Given the description of an element on the screen output the (x, y) to click on. 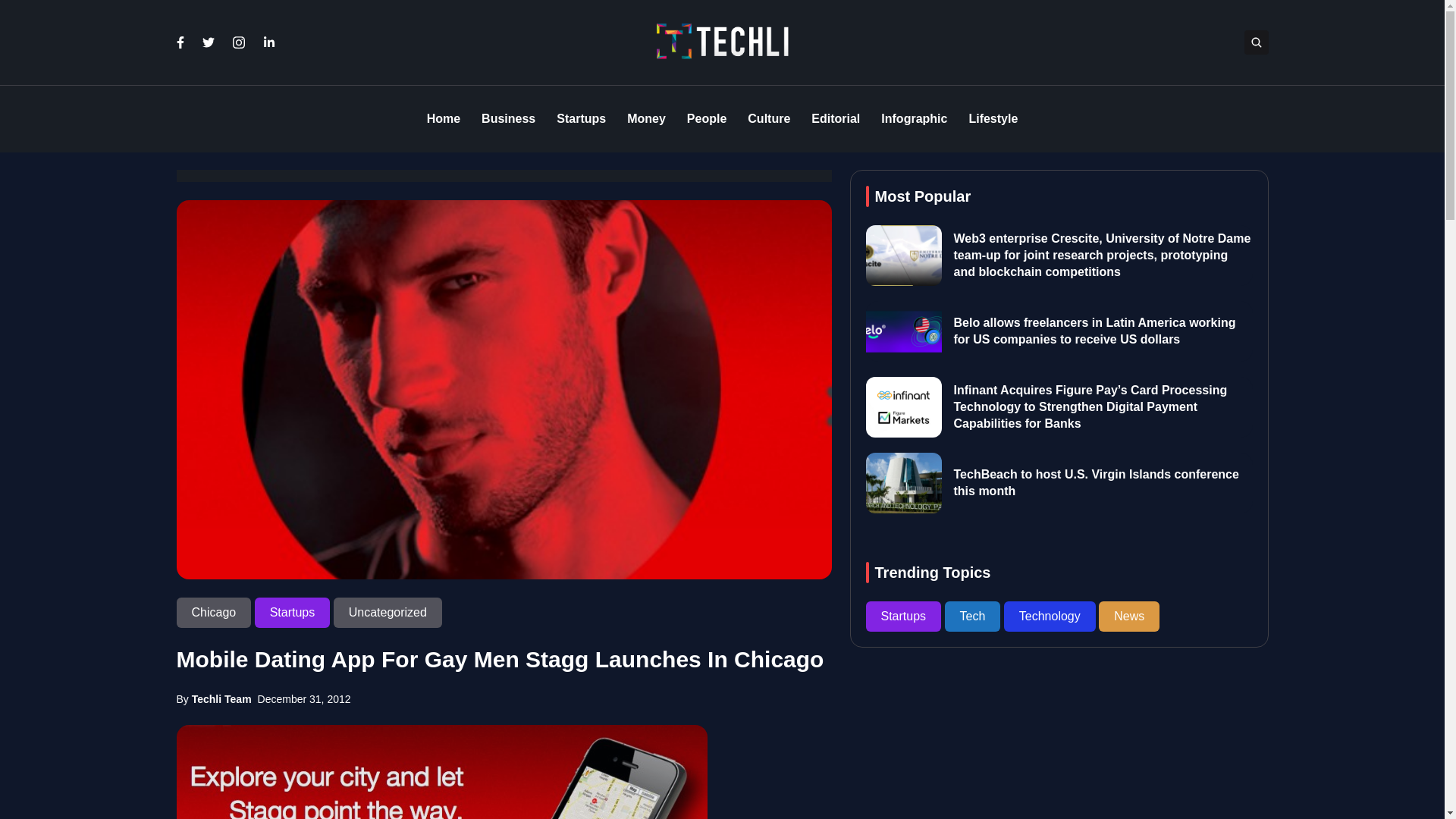
Chicago (214, 612)
Editorial (835, 119)
Business (508, 119)
Infographic (913, 119)
Culture (769, 119)
Lifestyle (992, 119)
Money (646, 119)
People (706, 119)
Startups (293, 612)
Home (443, 119)
Startups (580, 119)
Uncategorized (387, 612)
Techli Team (221, 698)
